Given the description of an element on the screen output the (x, y) to click on. 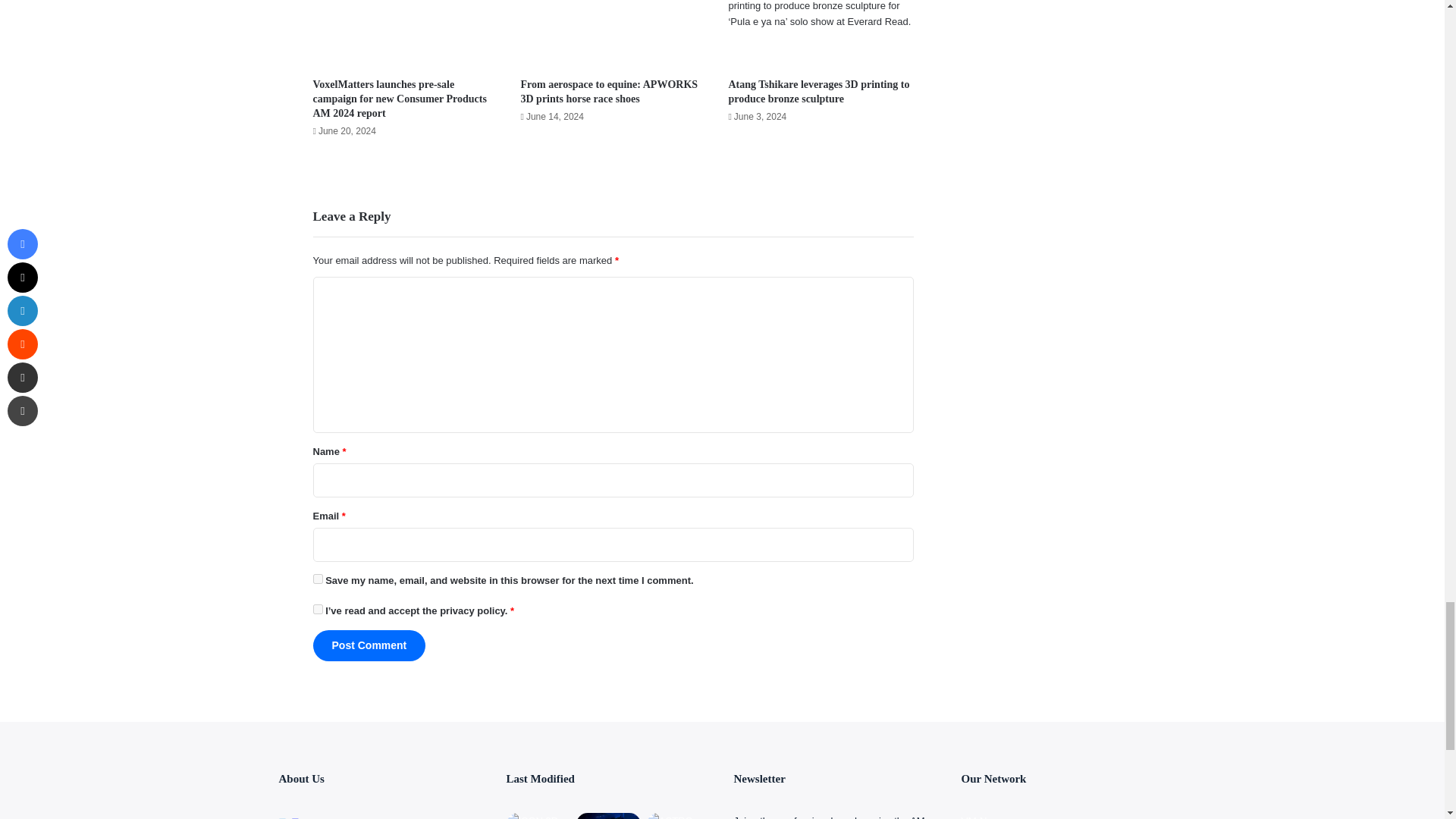
on (317, 609)
Post Comment (369, 644)
yes (317, 578)
